Given the description of an element on the screen output the (x, y) to click on. 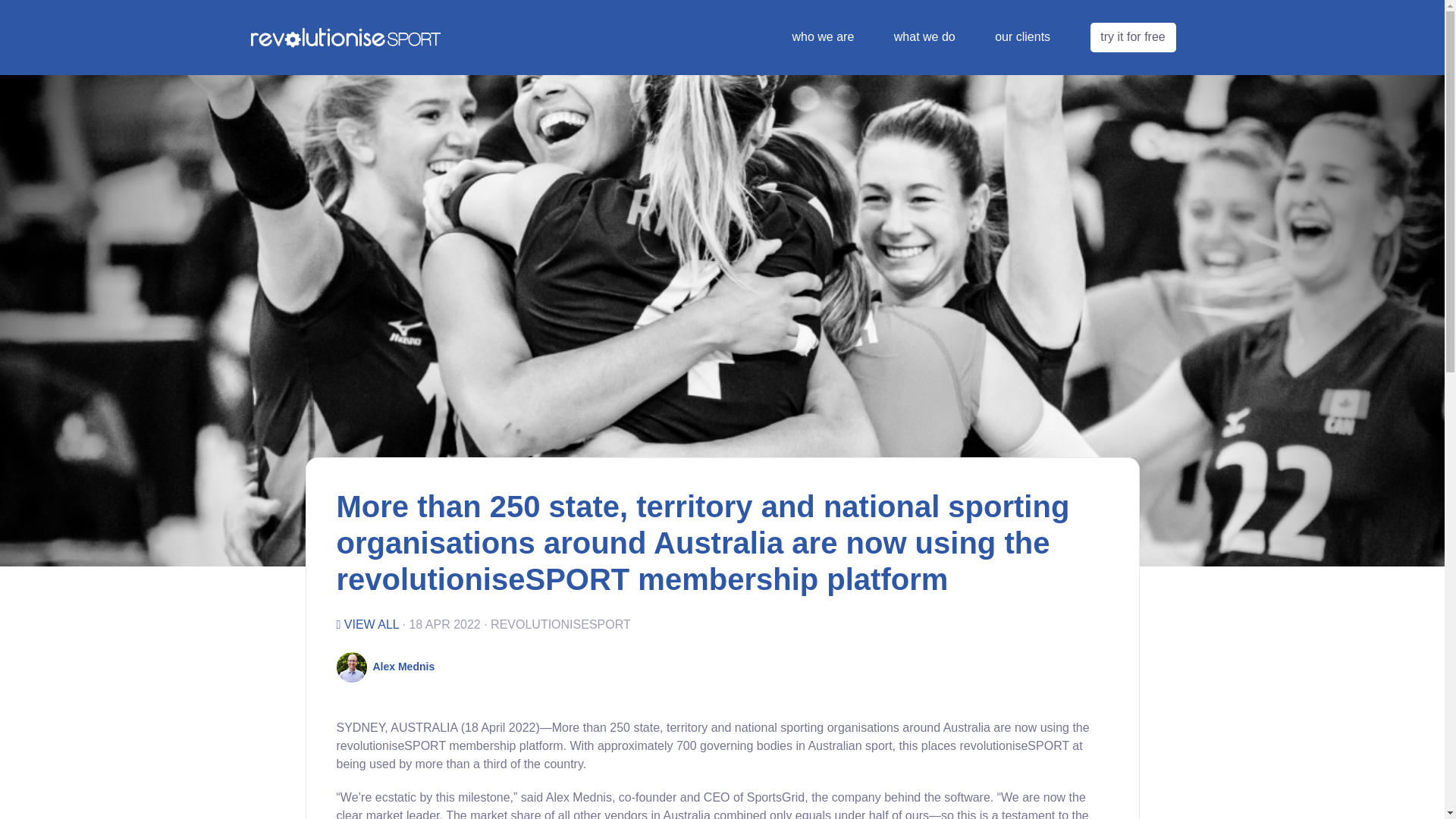
try it for free (1133, 37)
VIEW ALL (367, 624)
our clients (1021, 36)
what we do (924, 36)
Alex Mednis (403, 666)
who we are (822, 36)
